Given the description of an element on the screen output the (x, y) to click on. 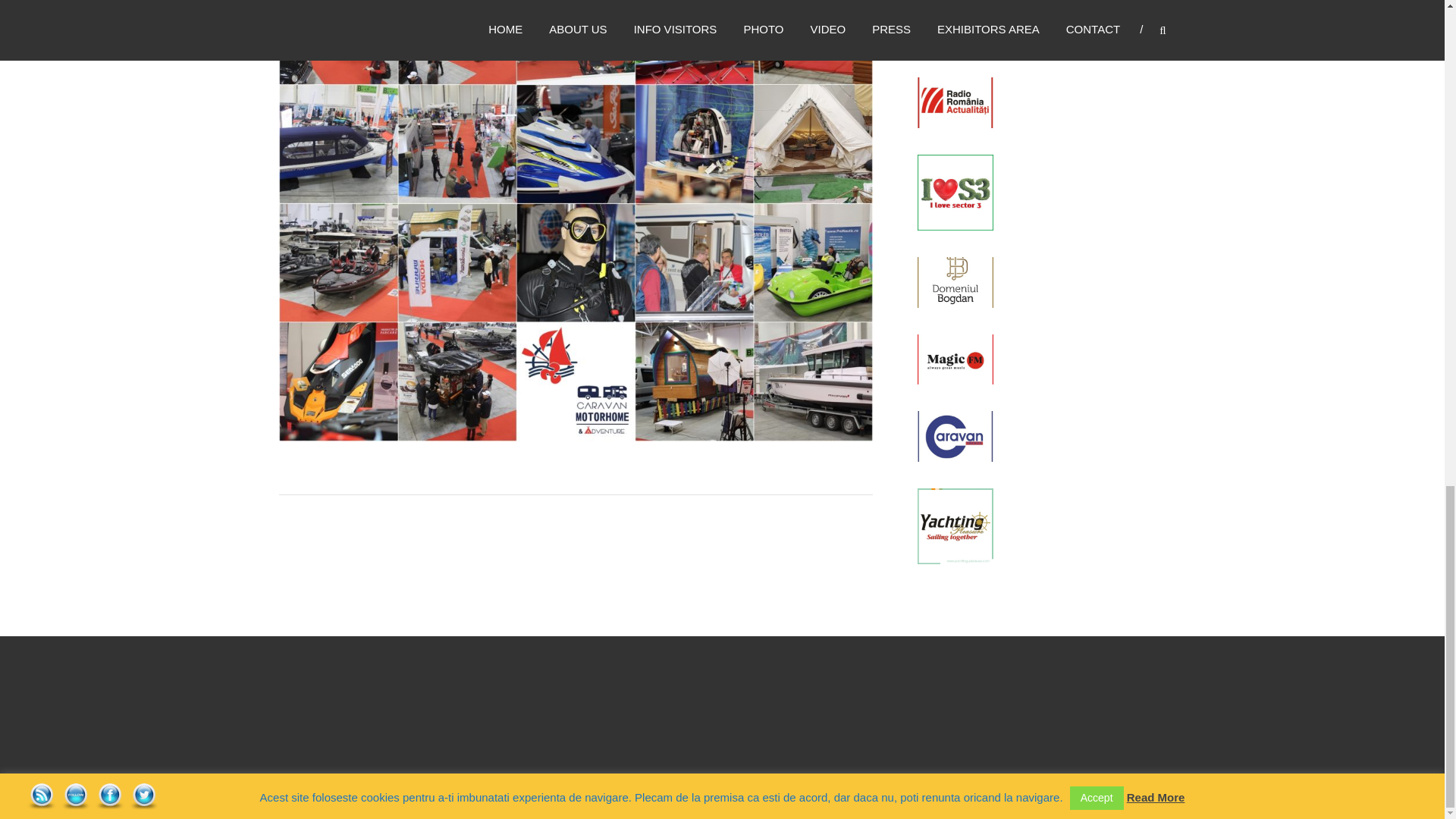
WordPress (869, 801)
Facebook (109, 795)
Follow by Email (75, 795)
Twitter (143, 795)
ThemeGrill (769, 801)
RSS (41, 795)
ThemeGrill (769, 801)
WordPress (869, 801)
